Given the description of an element on the screen output the (x, y) to click on. 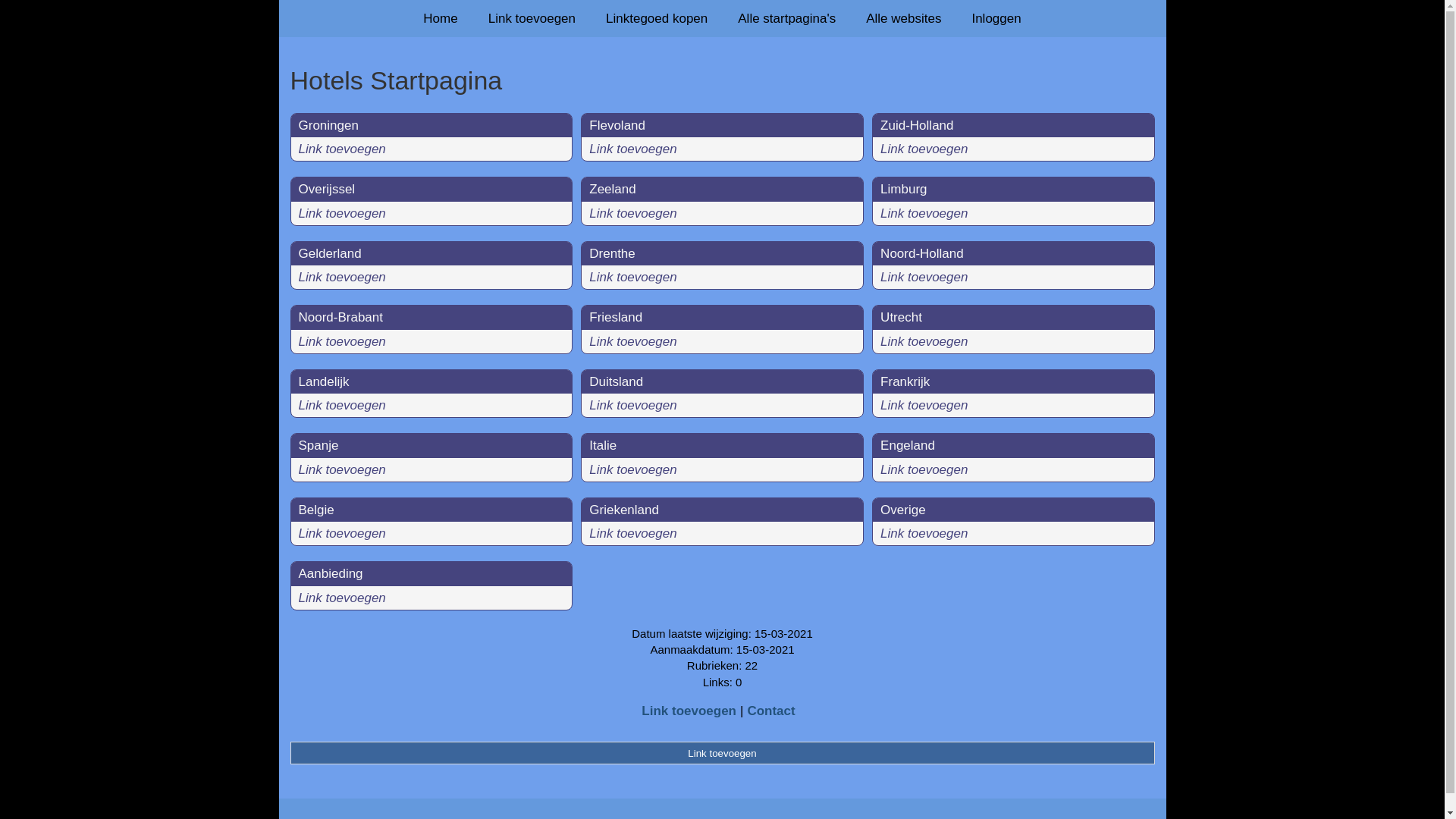
Link toevoegen Element type: text (341, 597)
Link toevoegen Element type: text (341, 533)
Friesland Element type: text (615, 317)
Home Element type: text (439, 18)
Link toevoegen Element type: text (341, 341)
Utrecht Element type: text (901, 317)
Linktegoed kopen Element type: text (656, 18)
Link toevoegen Element type: text (923, 341)
Griekenland Element type: text (623, 509)
Alle startpagina's Element type: text (786, 18)
Link toevoegen Element type: text (721, 752)
Overijssel Element type: text (326, 189)
Overige Element type: text (902, 509)
Frankrijk Element type: text (904, 381)
Italie Element type: text (602, 445)
Engeland Element type: text (907, 445)
Zuid-Holland Element type: text (916, 125)
Link toevoegen Element type: text (632, 213)
Duitsland Element type: text (616, 381)
Link toevoegen Element type: text (632, 276)
Link toevoegen Element type: text (923, 148)
Link toevoegen Element type: text (632, 533)
Noord-Brabant Element type: text (340, 317)
Inloggen Element type: text (995, 18)
Groningen Element type: text (328, 125)
Alle websites Element type: text (903, 18)
Link toevoegen Element type: text (341, 276)
Flevoland Element type: text (617, 125)
Limburg Element type: text (903, 189)
Spanje Element type: text (318, 445)
Link toevoegen Element type: text (632, 469)
Link toevoegen Element type: text (923, 405)
Link toevoegen Element type: text (632, 341)
Link toevoegen Element type: text (632, 405)
Gelderland Element type: text (329, 253)
Aanbieding Element type: text (330, 573)
Belgie Element type: text (316, 509)
Link toevoegen Element type: text (923, 213)
Link toevoegen Element type: text (341, 148)
Link toevoegen Element type: text (923, 276)
Link toevoegen Element type: text (688, 710)
Contact Element type: text (770, 710)
Link toevoegen Element type: text (341, 213)
Link toevoegen Element type: text (341, 469)
Link toevoegen Element type: text (923, 533)
Link toevoegen Element type: text (341, 405)
Drenthe Element type: text (611, 253)
Link toevoegen Element type: text (923, 469)
Link toevoegen Element type: text (632, 148)
Link toevoegen Element type: text (531, 18)
Landelijk Element type: text (323, 381)
Noord-Holland Element type: text (921, 253)
Hotels Startpagina Element type: text (721, 80)
Zeeland Element type: text (612, 189)
